Given the description of an element on the screen output the (x, y) to click on. 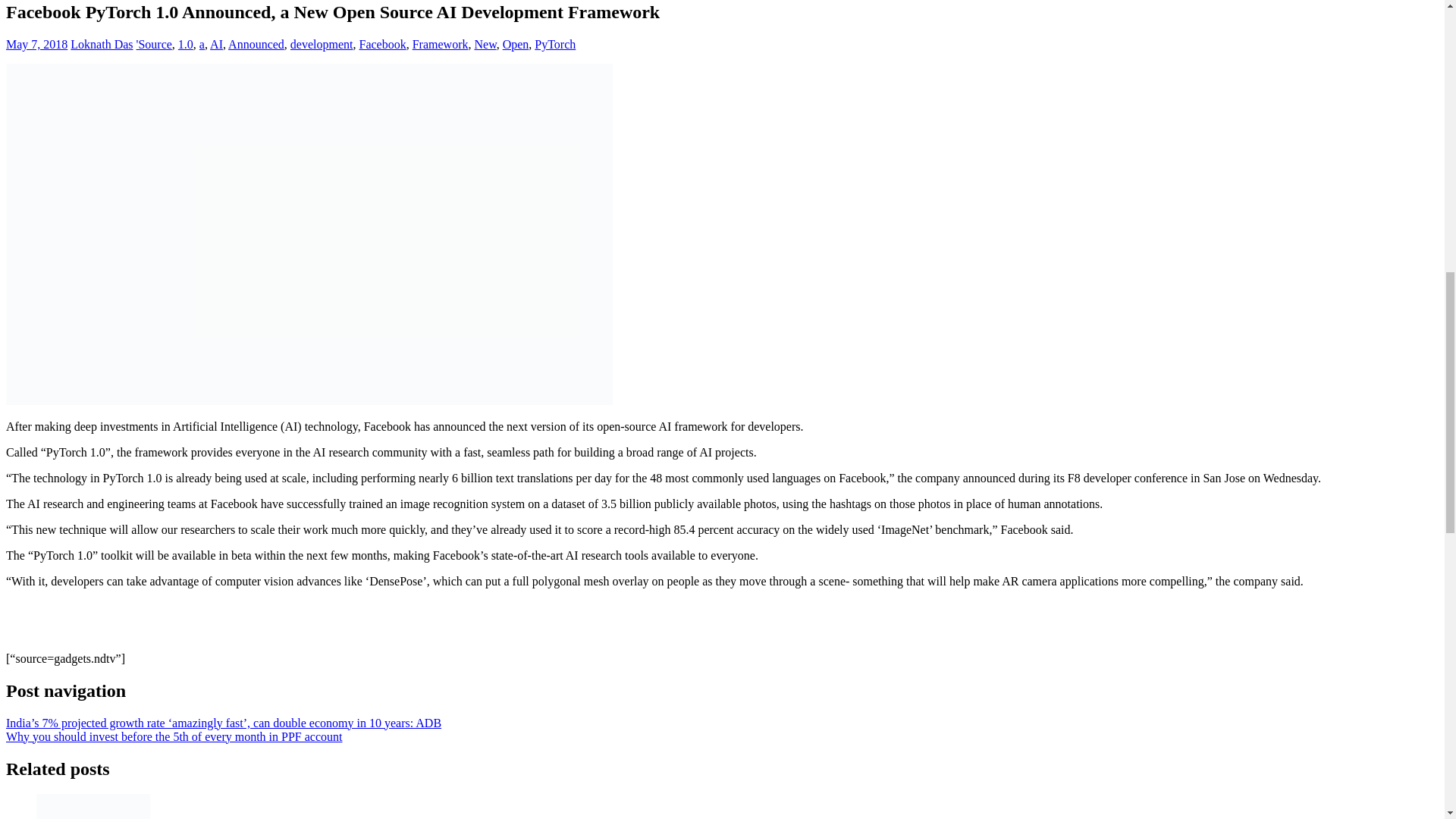
Facebook (382, 43)
New (485, 43)
Framework (440, 43)
development (321, 43)
May 7, 2018 (35, 43)
PyTorch (554, 43)
Loknath Das (100, 43)
Announced (255, 43)
'Source (153, 43)
